Given the description of an element on the screen output the (x, y) to click on. 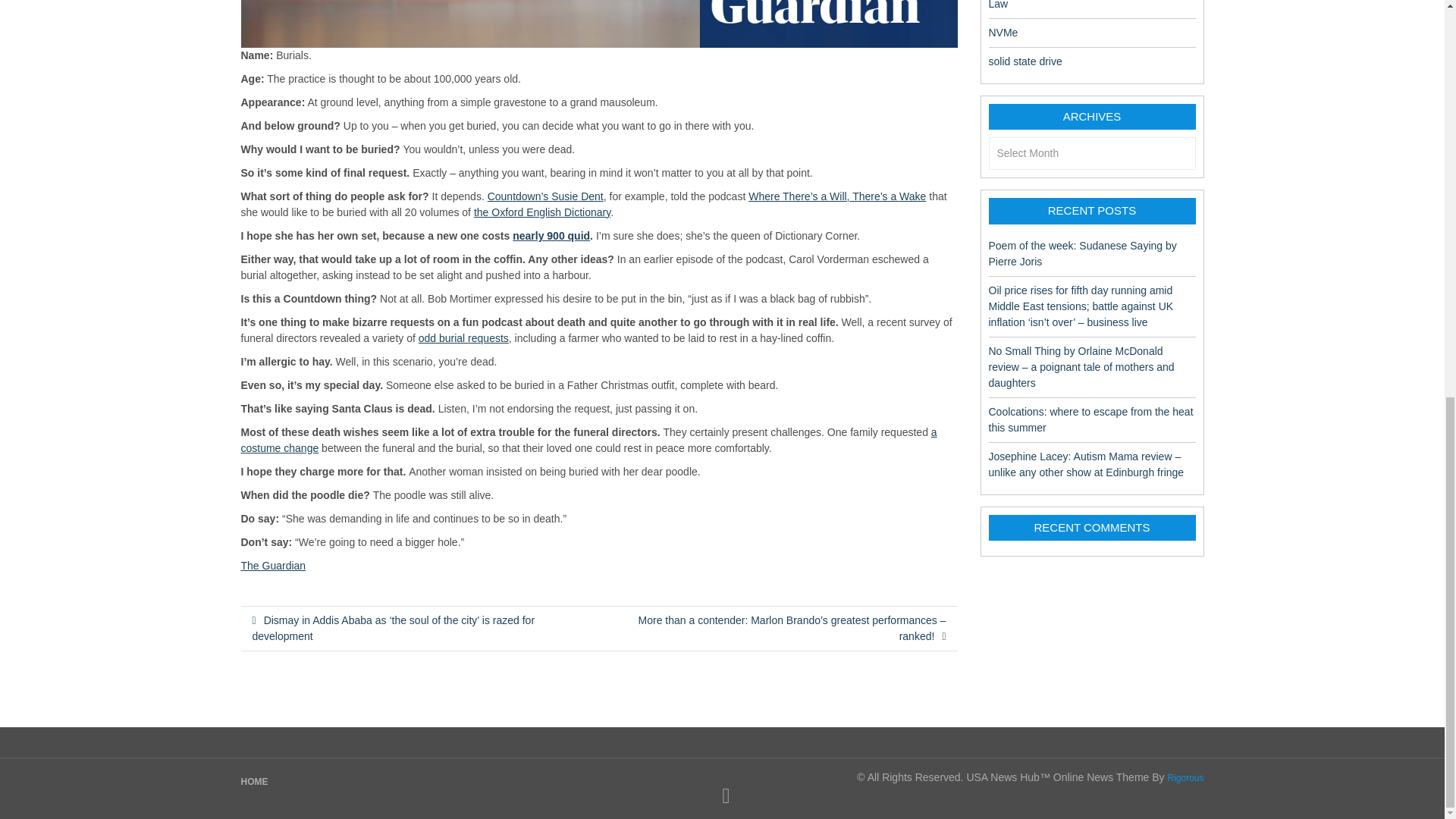
Rigorous (1185, 777)
Coolcations: where to escape from the heat this summer (1090, 419)
odd burial requests (463, 337)
Law (998, 4)
a costume change (589, 439)
NVMe (1002, 32)
the Oxford English Dictionary (542, 212)
HOME (254, 781)
solid state drive (1025, 61)
The Guardian (273, 565)
